Given the description of an element on the screen output the (x, y) to click on. 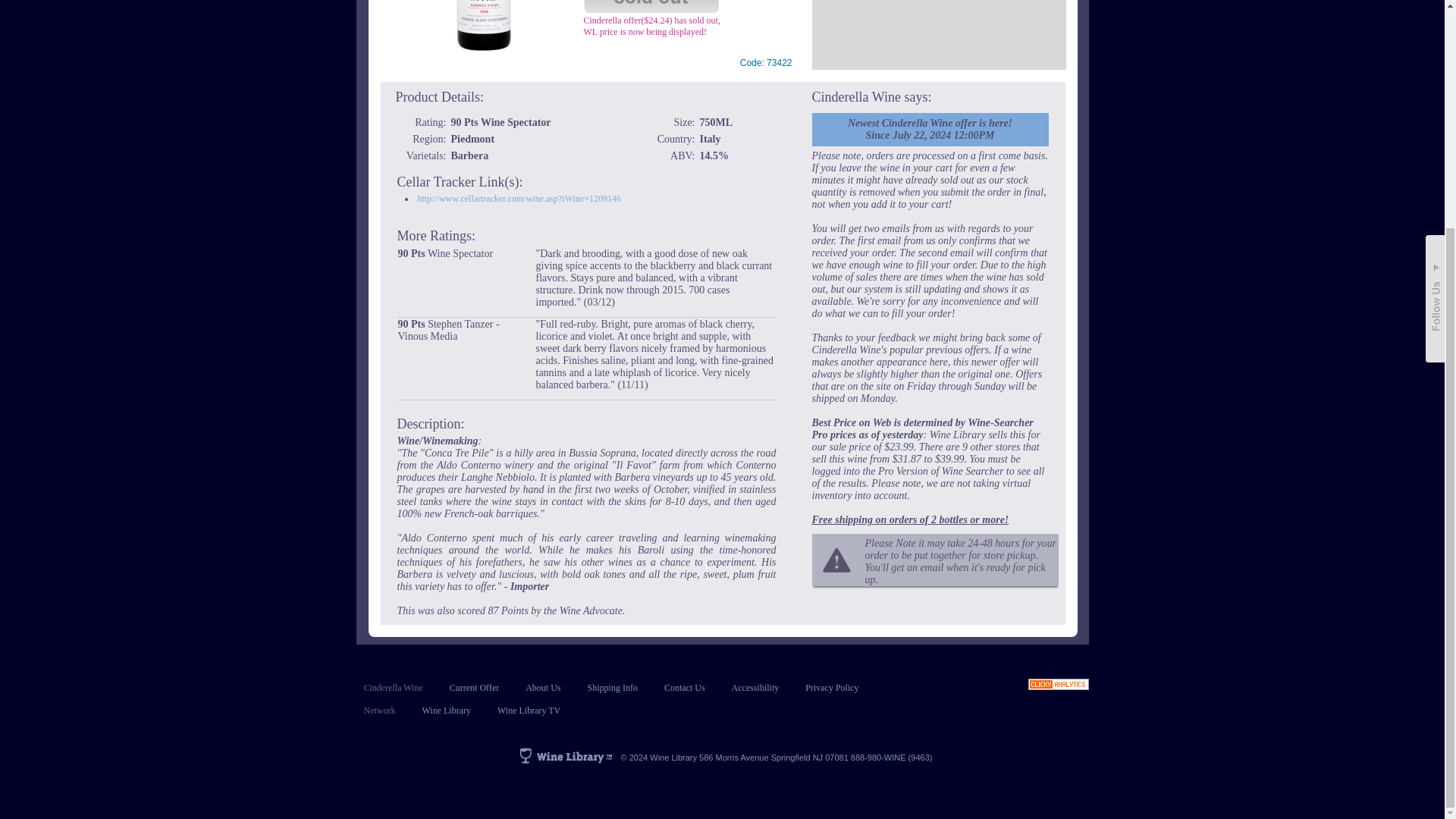
Accessibility (755, 687)
Wine Librarys daily video blog. (528, 710)
Contact Us (683, 687)
Shipping Info (612, 687)
About Us (542, 687)
Web Statistics (1058, 685)
Current Offer (474, 687)
Wine Library (446, 710)
Privacy Policy (832, 687)
Wine Library Store (446, 710)
Current Offer (474, 687)
Privacy Policy (832, 687)
Accessibility (755, 687)
Wine Library TV (528, 710)
